Given the description of an element on the screen output the (x, y) to click on. 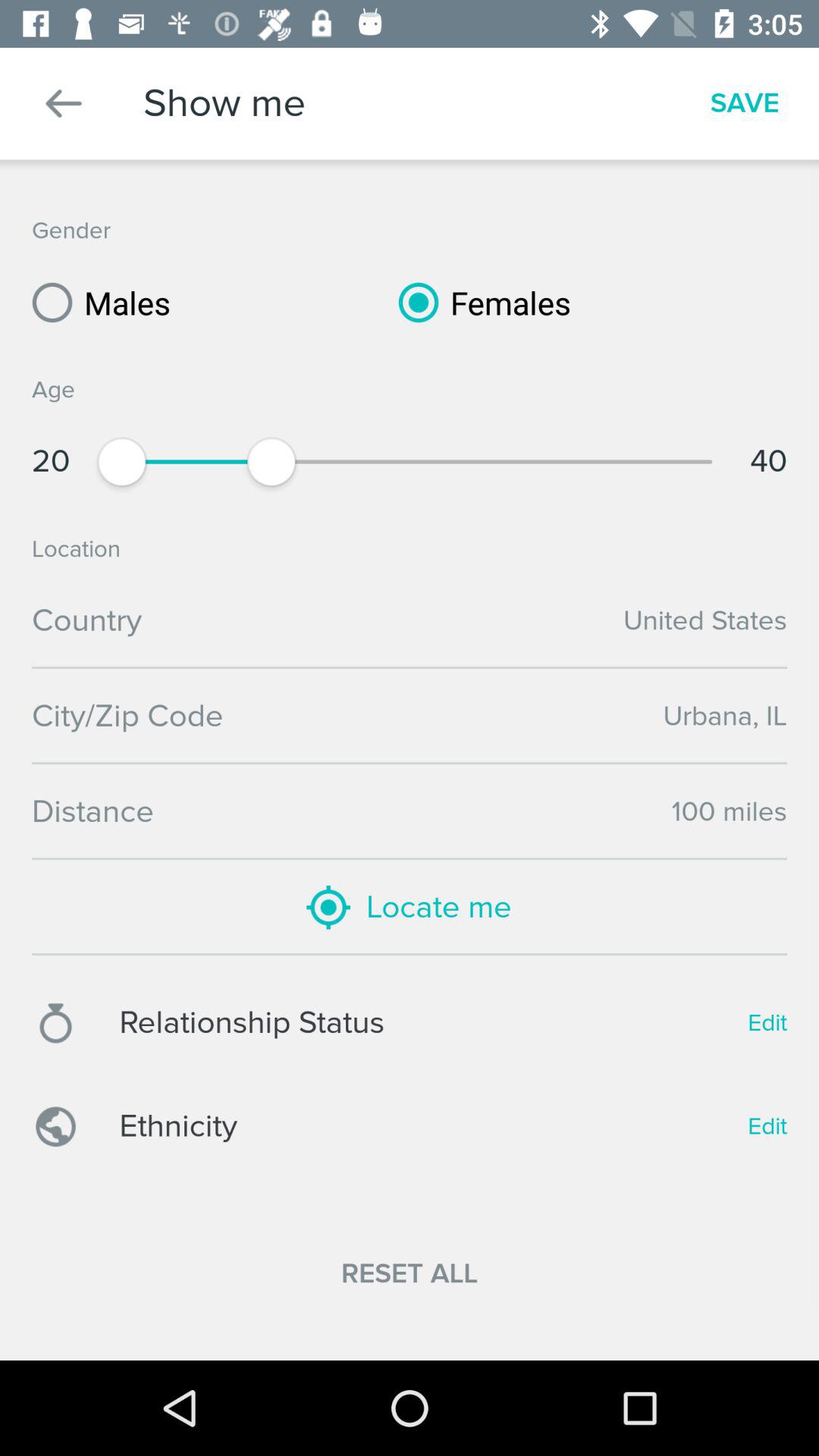
choose icon next to the males icon (478, 302)
